Given the description of an element on the screen output the (x, y) to click on. 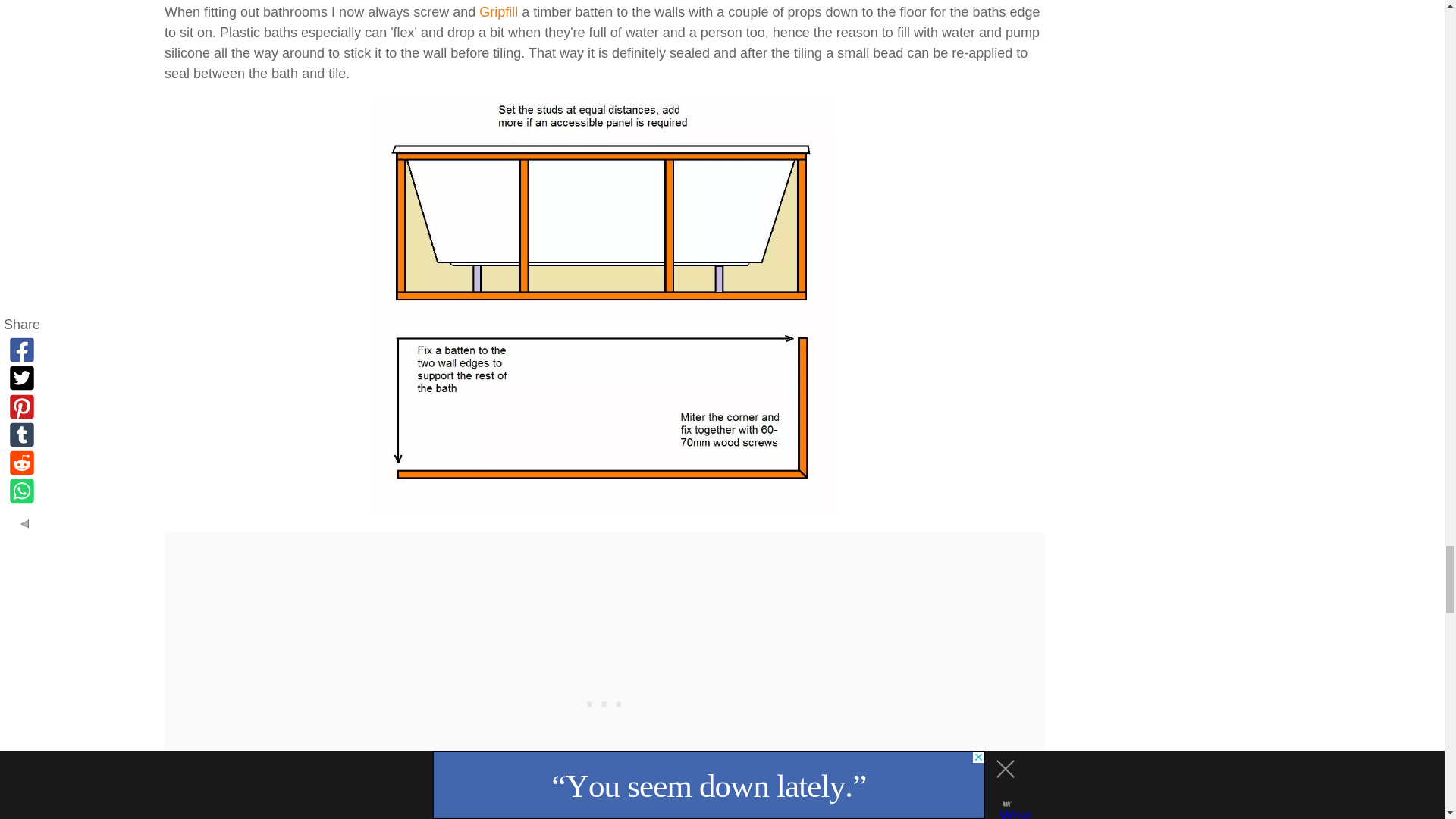
Gripfill (498, 11)
